Given the description of an element on the screen output the (x, y) to click on. 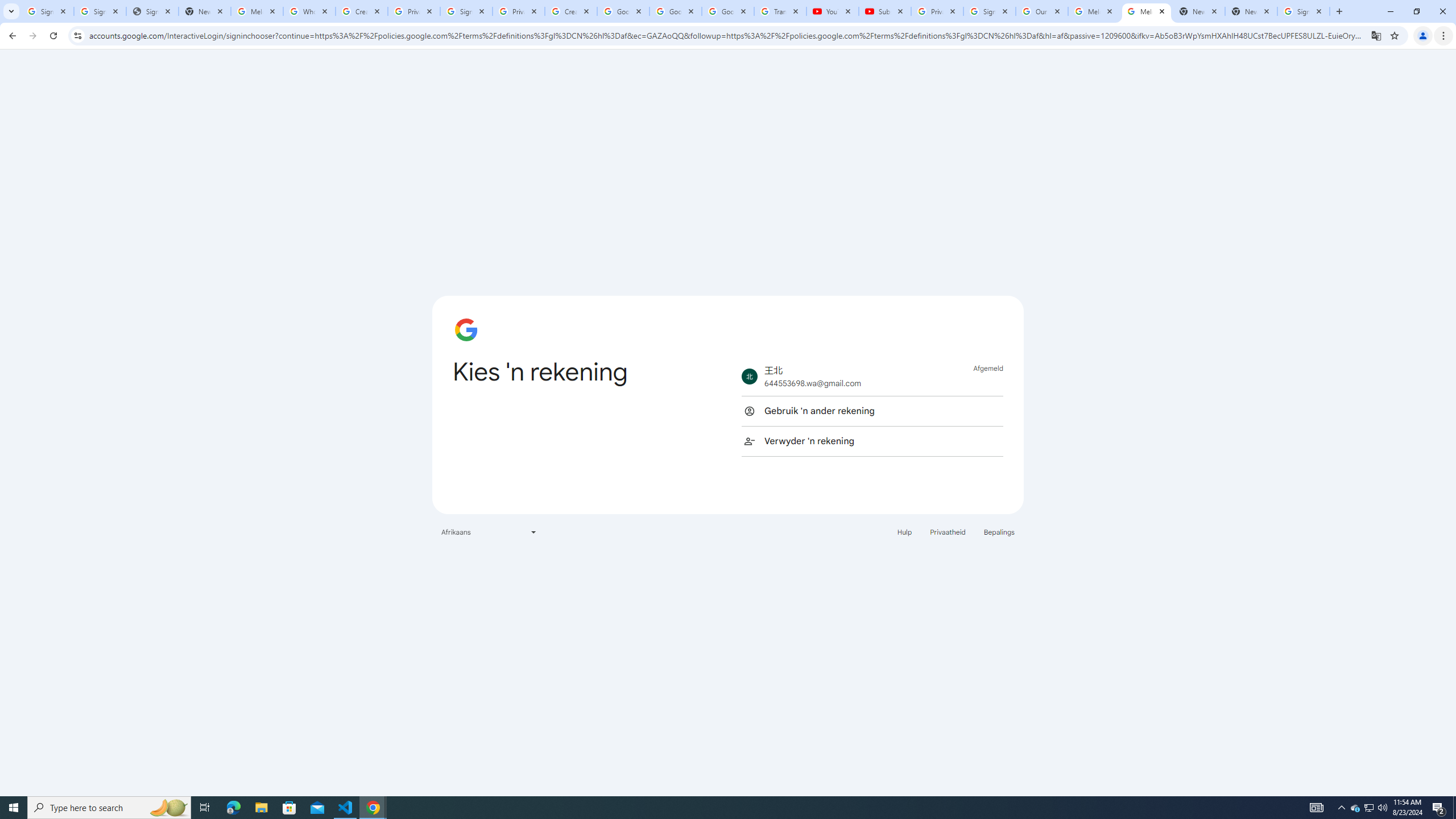
Gebruik 'n ander rekening (871, 410)
YouTube (831, 11)
New Tab (1251, 11)
Sign in - Google Accounts (1303, 11)
Hulp (903, 531)
